Given the description of an element on the screen output the (x, y) to click on. 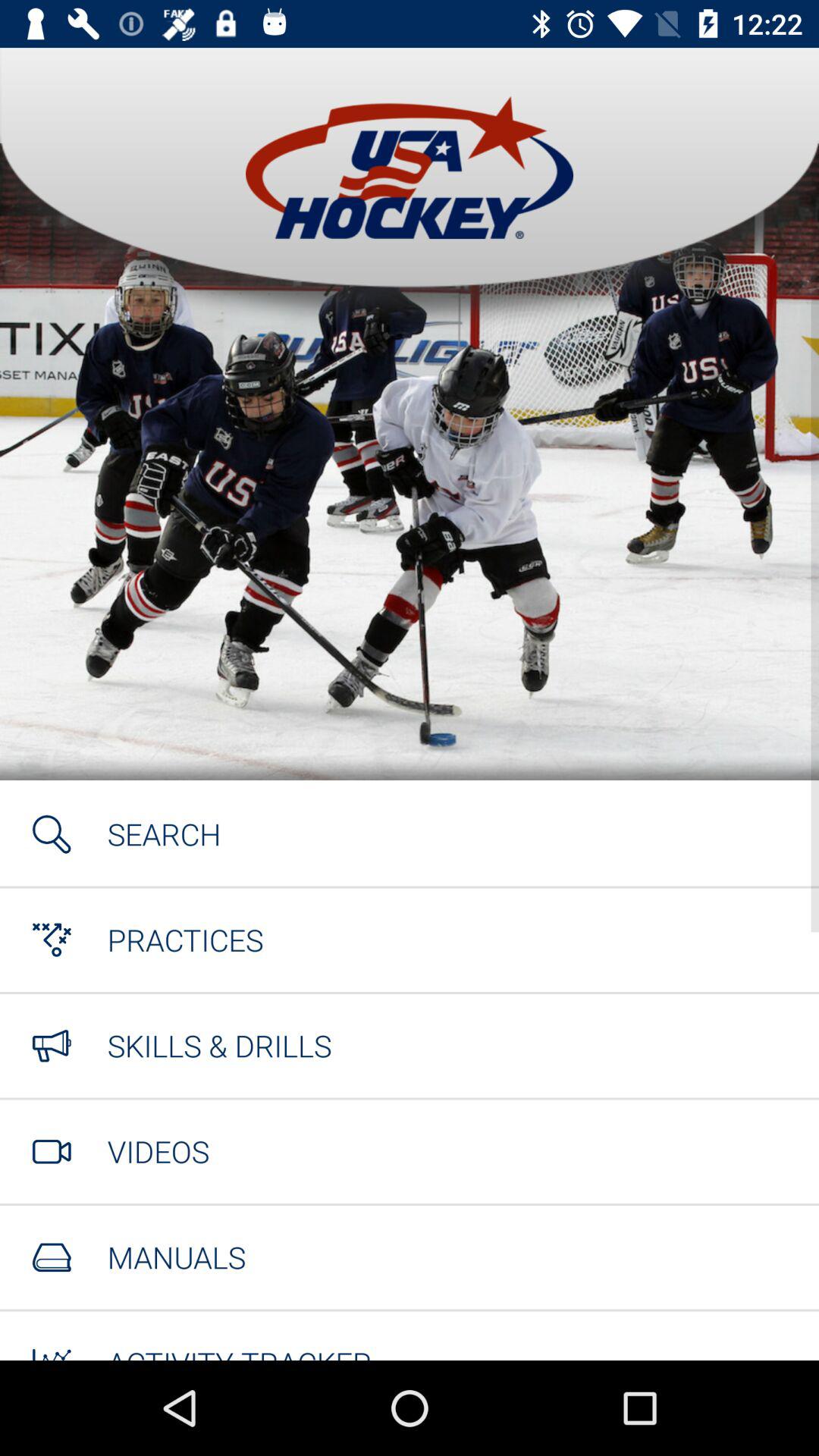
select icon above activity tracker (176, 1257)
